Given the description of an element on the screen output the (x, y) to click on. 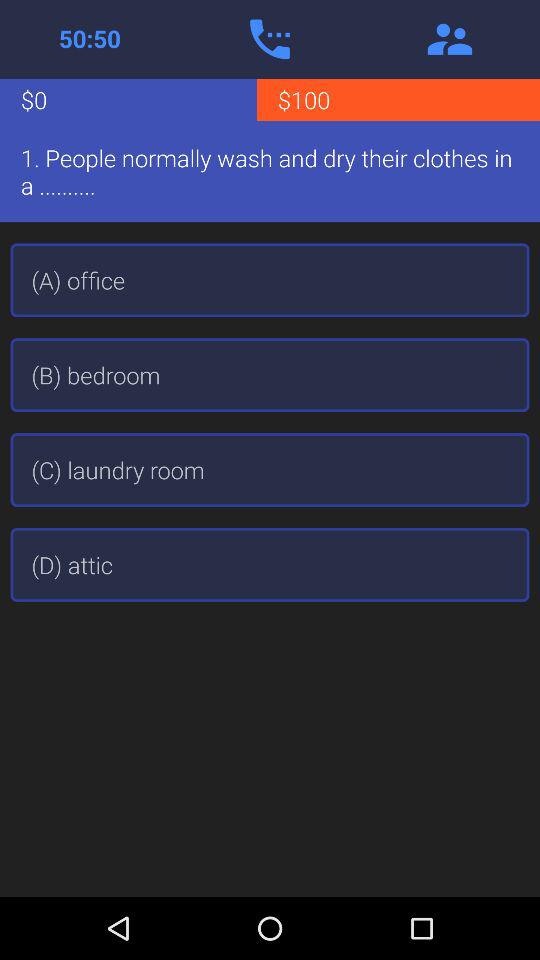
launch the app above the $0 (270, 39)
